Given the description of an element on the screen output the (x, y) to click on. 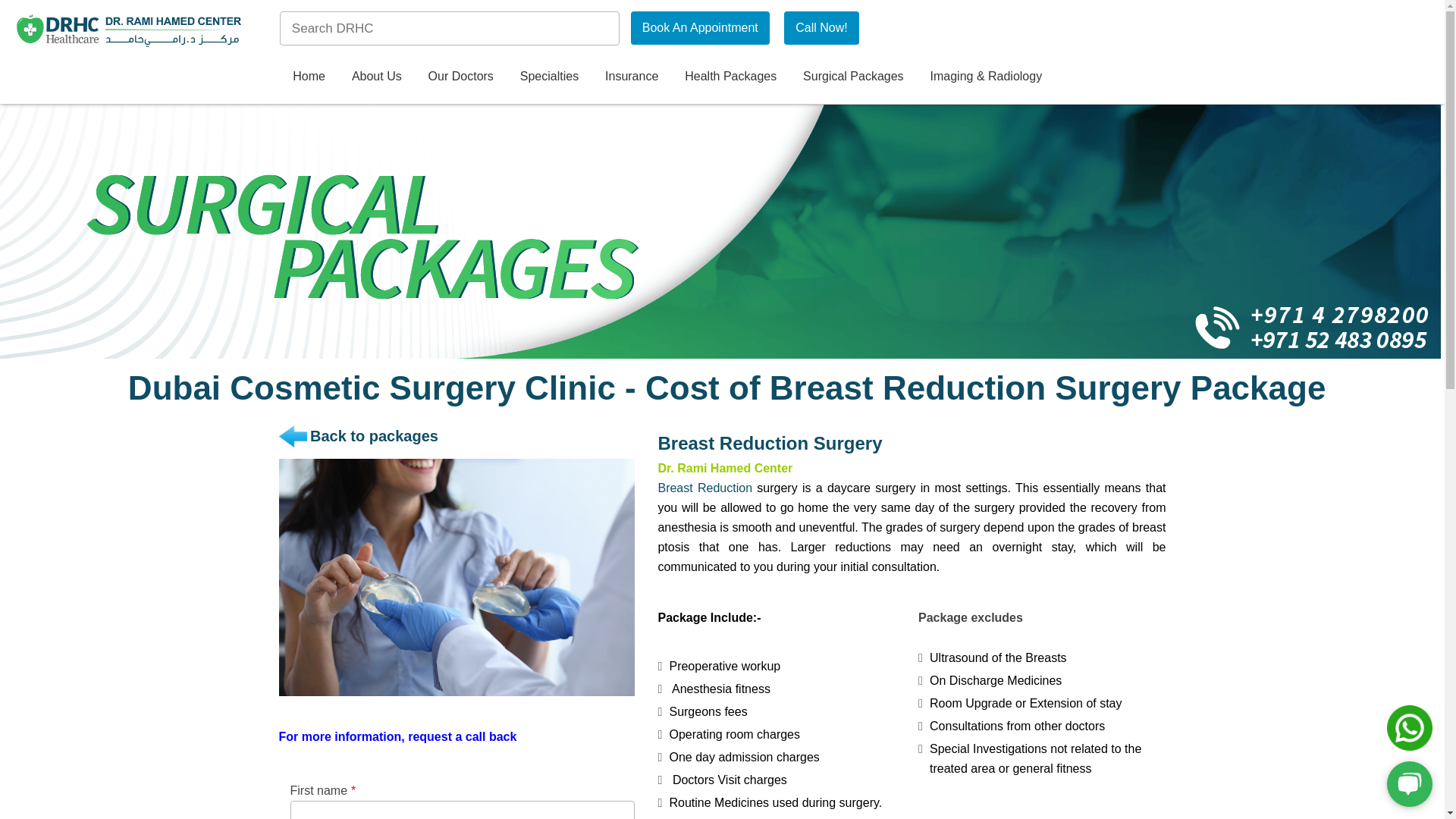
Chat Widget (1406, 782)
Our Doctors (460, 76)
Book An Appointment (700, 28)
Book An Appointment (700, 28)
Specialties (548, 76)
Breast Implant (456, 577)
DRHC (128, 30)
Home (309, 76)
About Us (375, 76)
Insurance (631, 76)
Call Now! (821, 28)
